Given the description of an element on the screen output the (x, y) to click on. 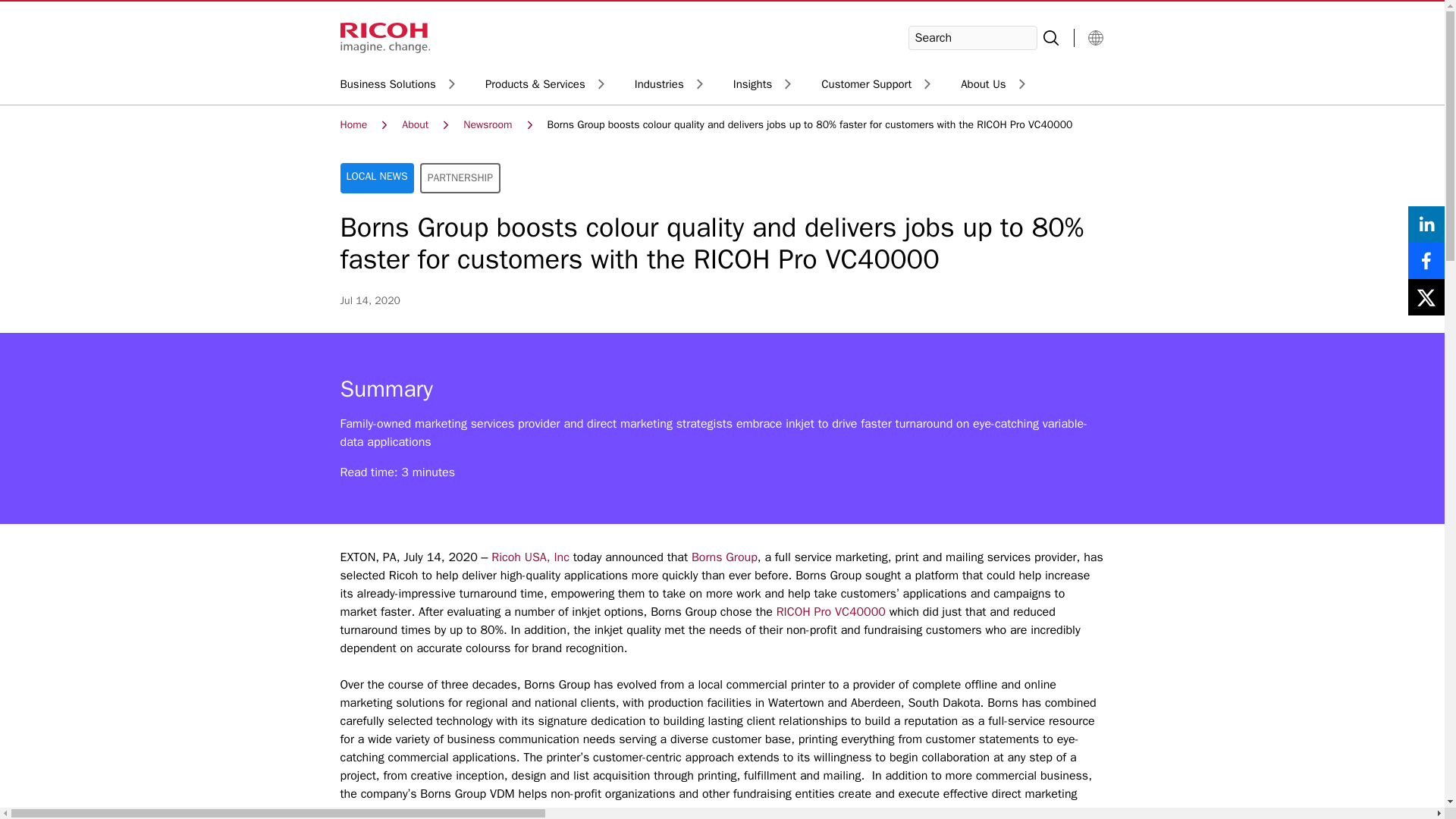
Ricoh Canada (396, 84)
Languages (384, 37)
